Given the description of an element on the screen output the (x, y) to click on. 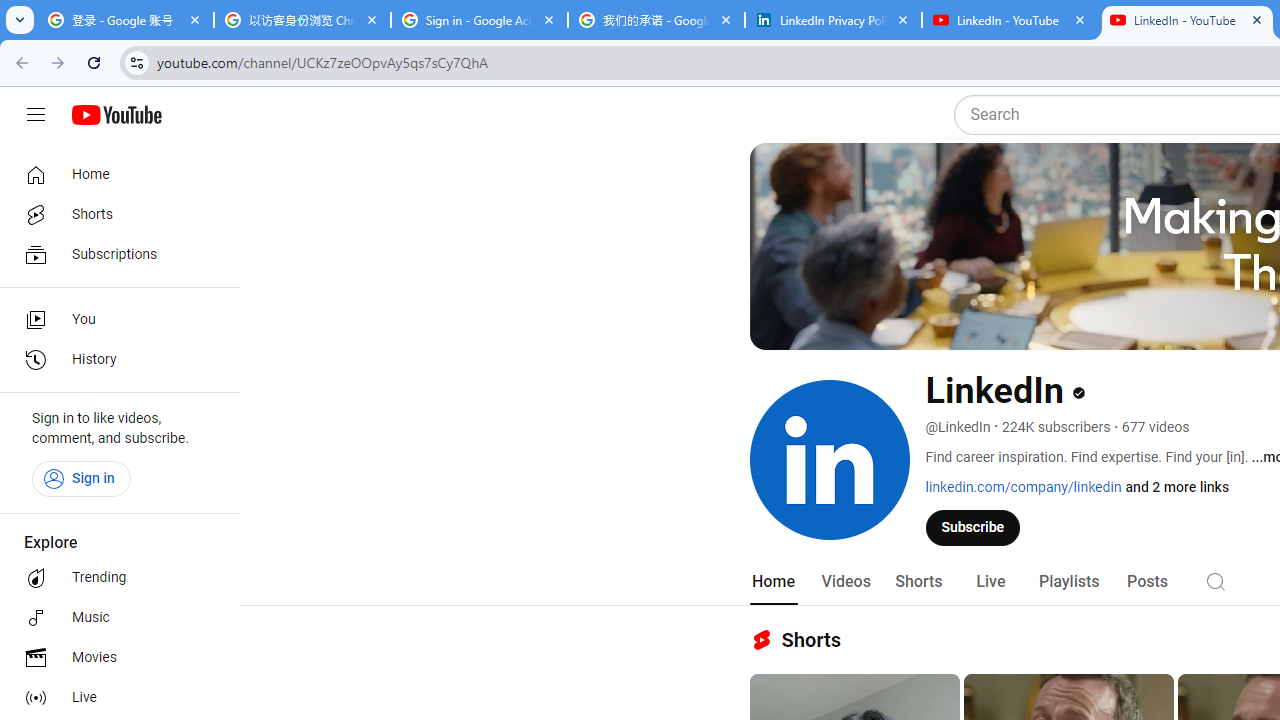
Posts (1147, 581)
Shorts (918, 581)
and 2 more links (1177, 487)
Movies (113, 657)
Shorts (113, 214)
YouTube Home (116, 115)
Guide (35, 115)
